Given the description of an element on the screen output the (x, y) to click on. 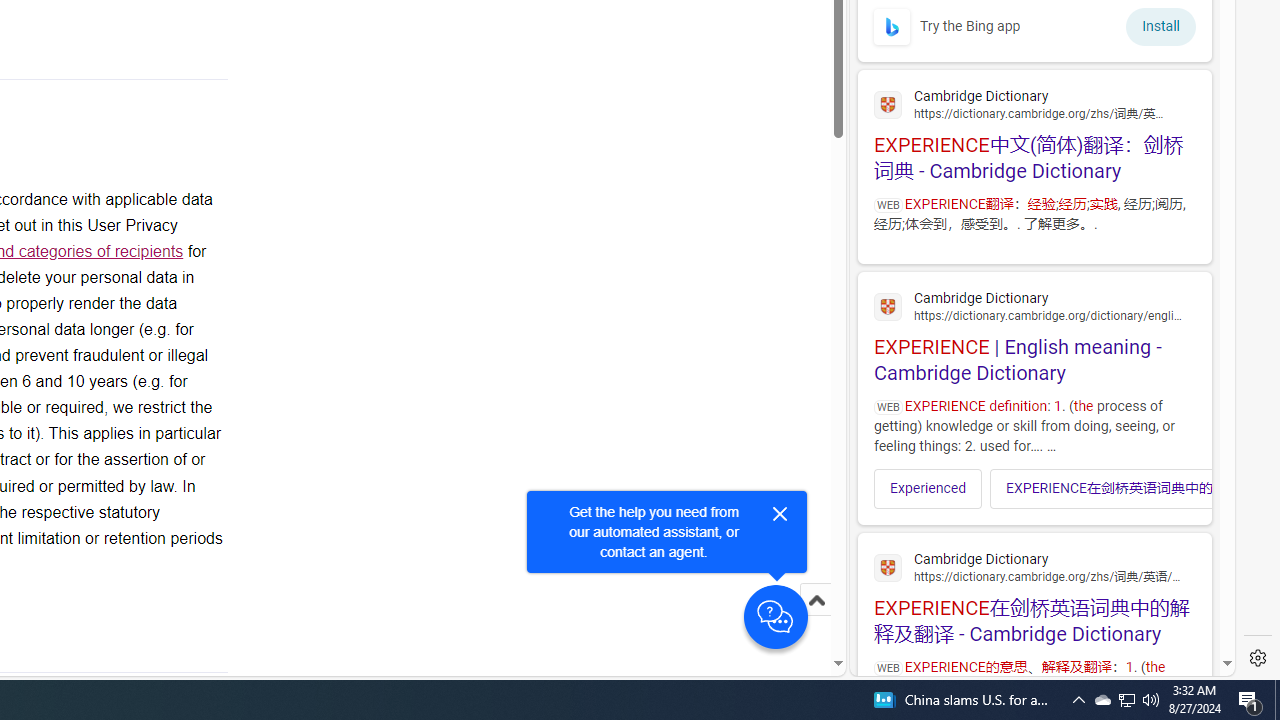
Experienced (928, 488)
Experienced (927, 488)
